Given the description of an element on the screen output the (x, y) to click on. 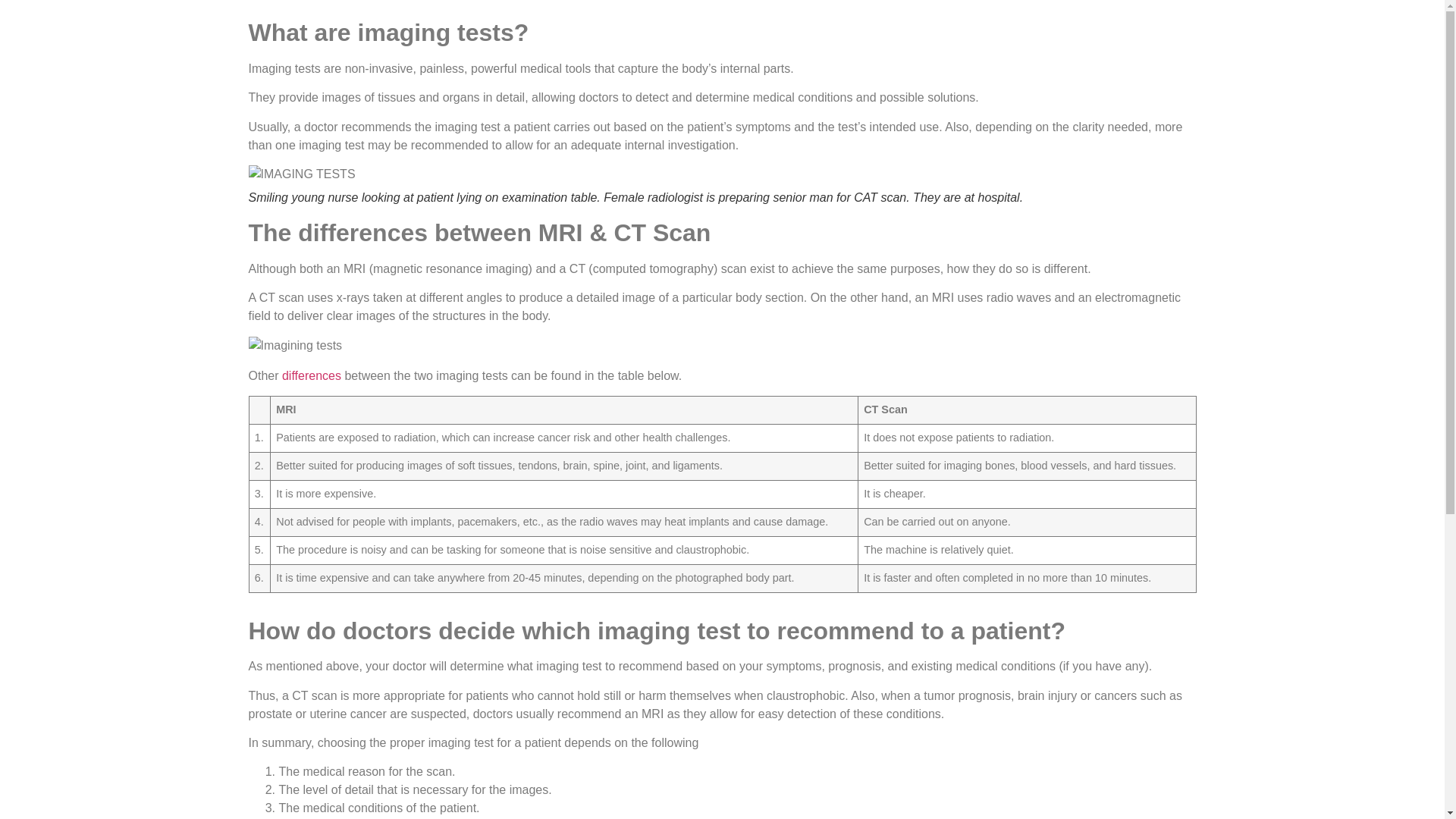
differences (311, 375)
